Given the description of an element on the screen output the (x, y) to click on. 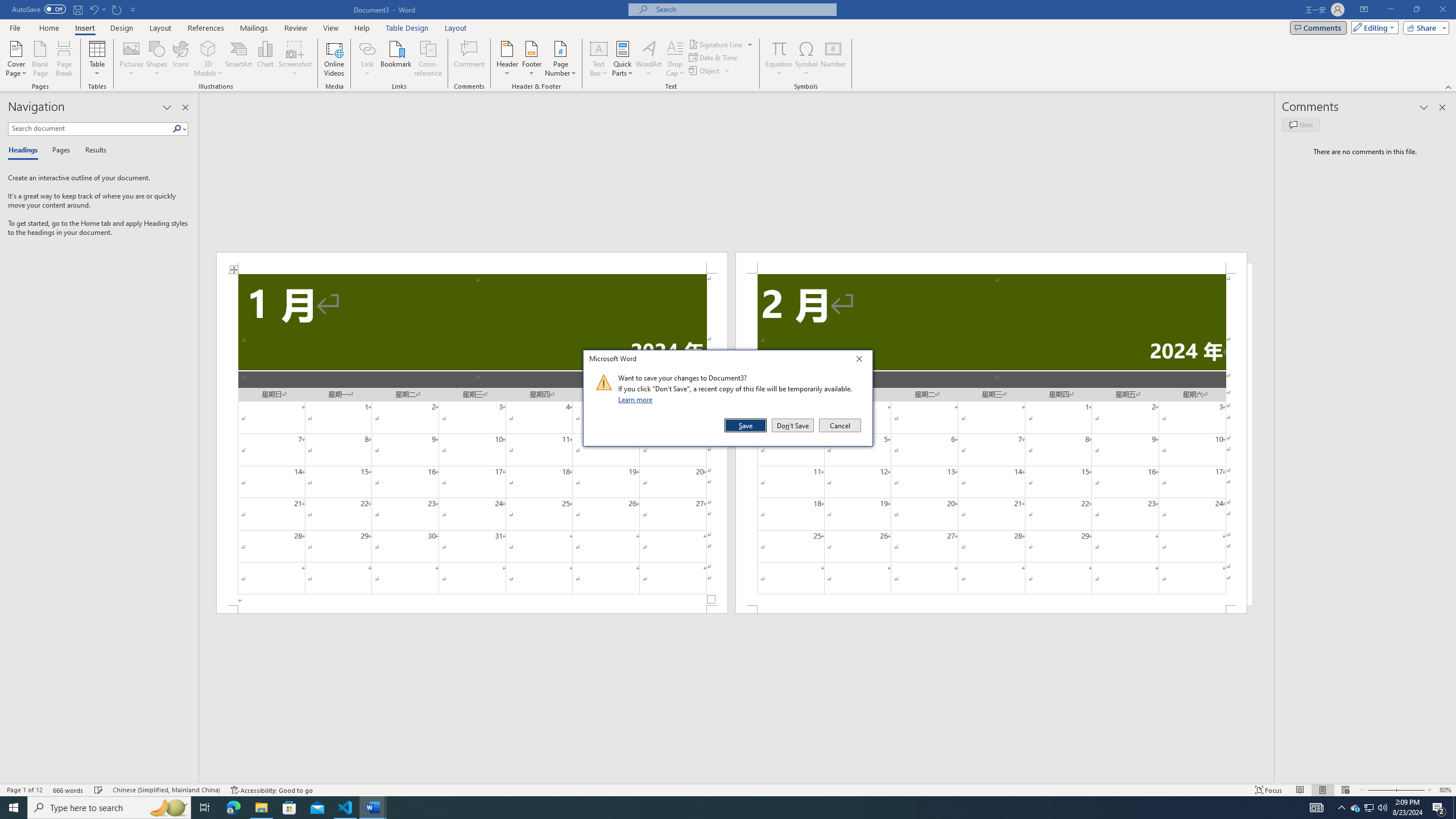
User Promoted Notification Area (1368, 807)
Footer -Section 2- (991, 609)
Object... (709, 69)
Spelling and Grammar Check Checking (98, 790)
Start (13, 807)
Object... (705, 69)
Word Count 666 words (68, 790)
Running applications (717, 807)
AutomationID: 4105 (1316, 807)
Table Design (407, 28)
